Given the description of an element on the screen output the (x, y) to click on. 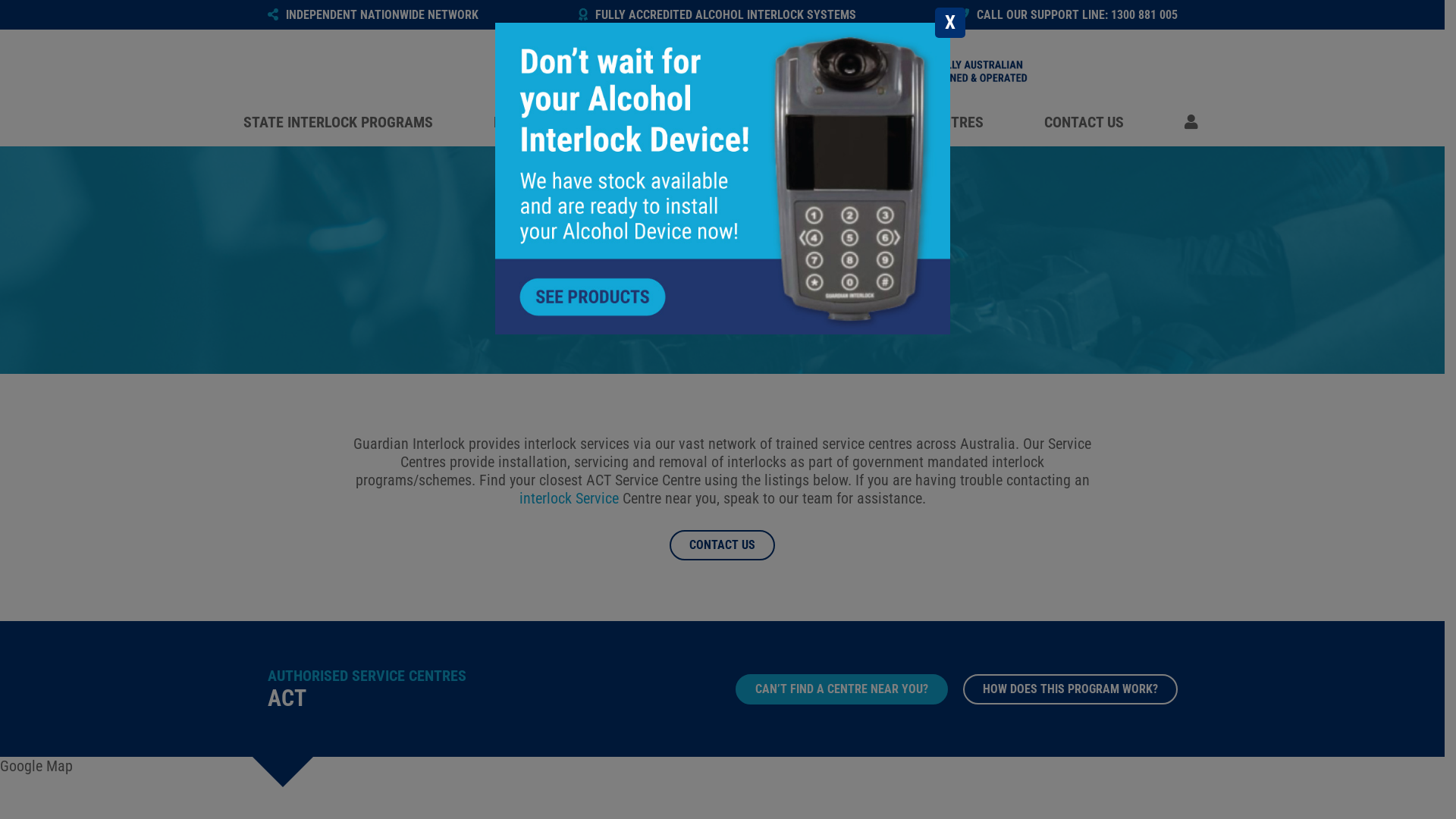
CALL OUR SUPPORT LINE: 1300 881 005 Element type: text (1067, 14)
STATE INTERLOCK PROGRAMS Element type: text (337, 121)
Home Element type: hover (1136, 71)
  Element type: text (1192, 121)
CONTACT US Element type: text (1083, 121)
PRIVATE INTERLOCK SYSTEMS Element type: text (588, 121)
HOW DOES THIS PROGRAM WORK? Element type: text (1070, 688)
interlock Service Element type: text (568, 498)
X Element type: text (949, 22)
SERVICE CENTRES Element type: text (926, 121)
Home Element type: hover (721, 67)
CONTACT US Element type: text (722, 545)
ABOUT US Element type: text (775, 121)
